Given the description of an element on the screen output the (x, y) to click on. 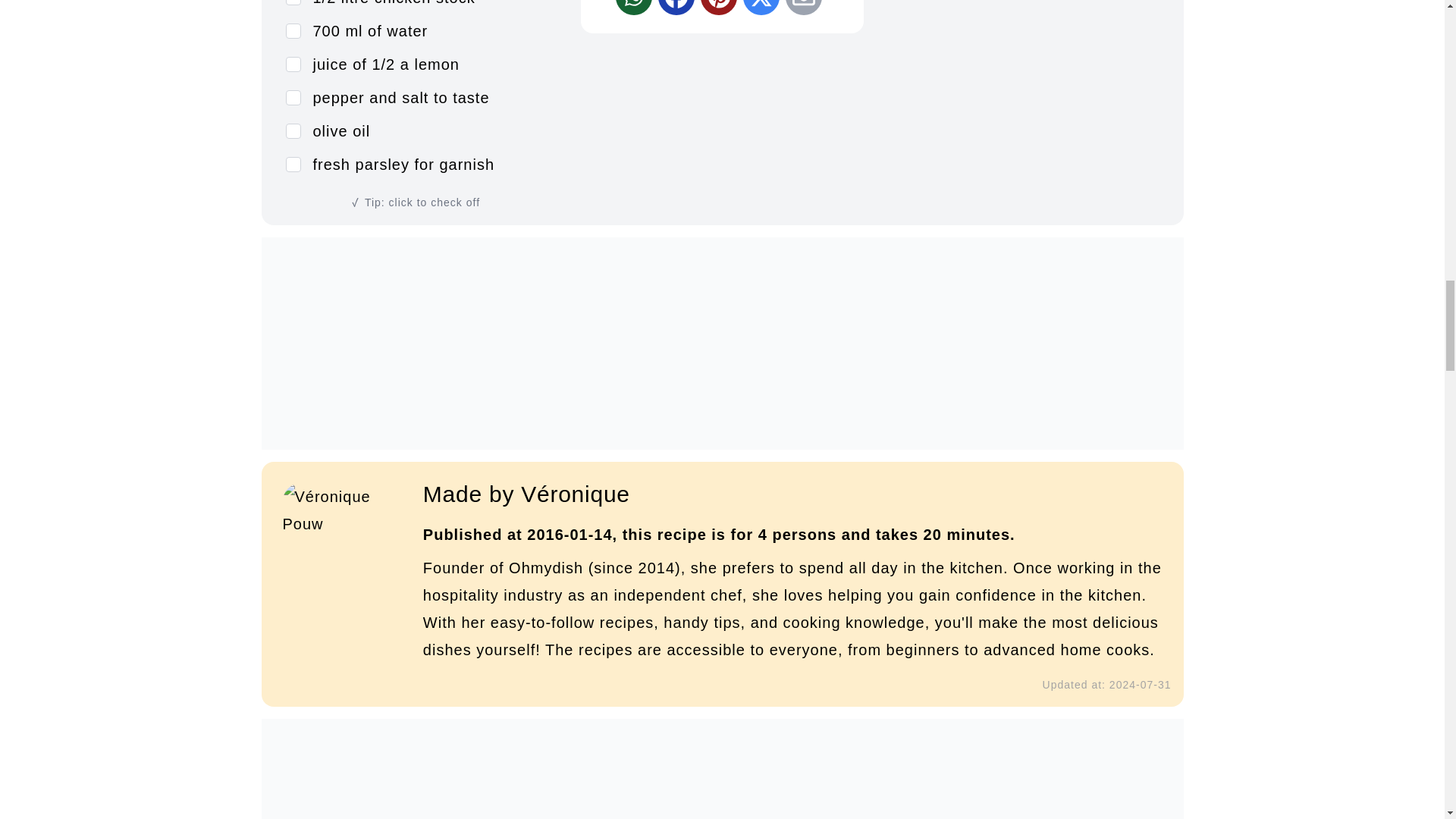
on (292, 30)
on (292, 130)
on (292, 97)
on (292, 164)
on (292, 64)
on (292, 2)
